Given the description of an element on the screen output the (x, y) to click on. 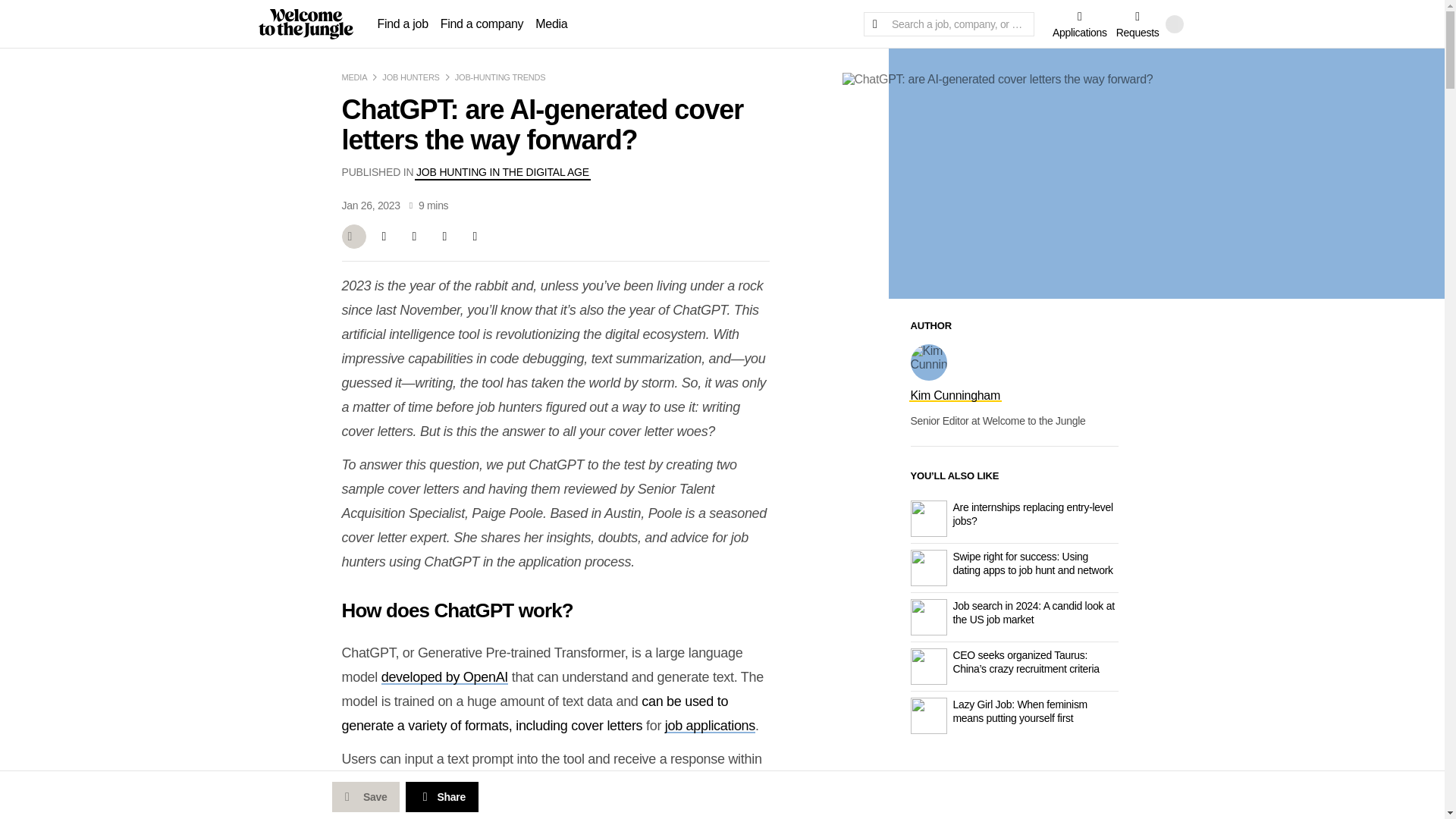
job applications (710, 725)
Find a job (402, 23)
developed by OpenAI (444, 676)
JOB HUNTING IN THE DIGITAL AGE (502, 172)
MEDIA (353, 76)
Find a company (482, 23)
JOB-HUNTING TRENDS (500, 76)
Requests (1137, 23)
JOB HUNTERS (410, 76)
